Given the description of an element on the screen output the (x, y) to click on. 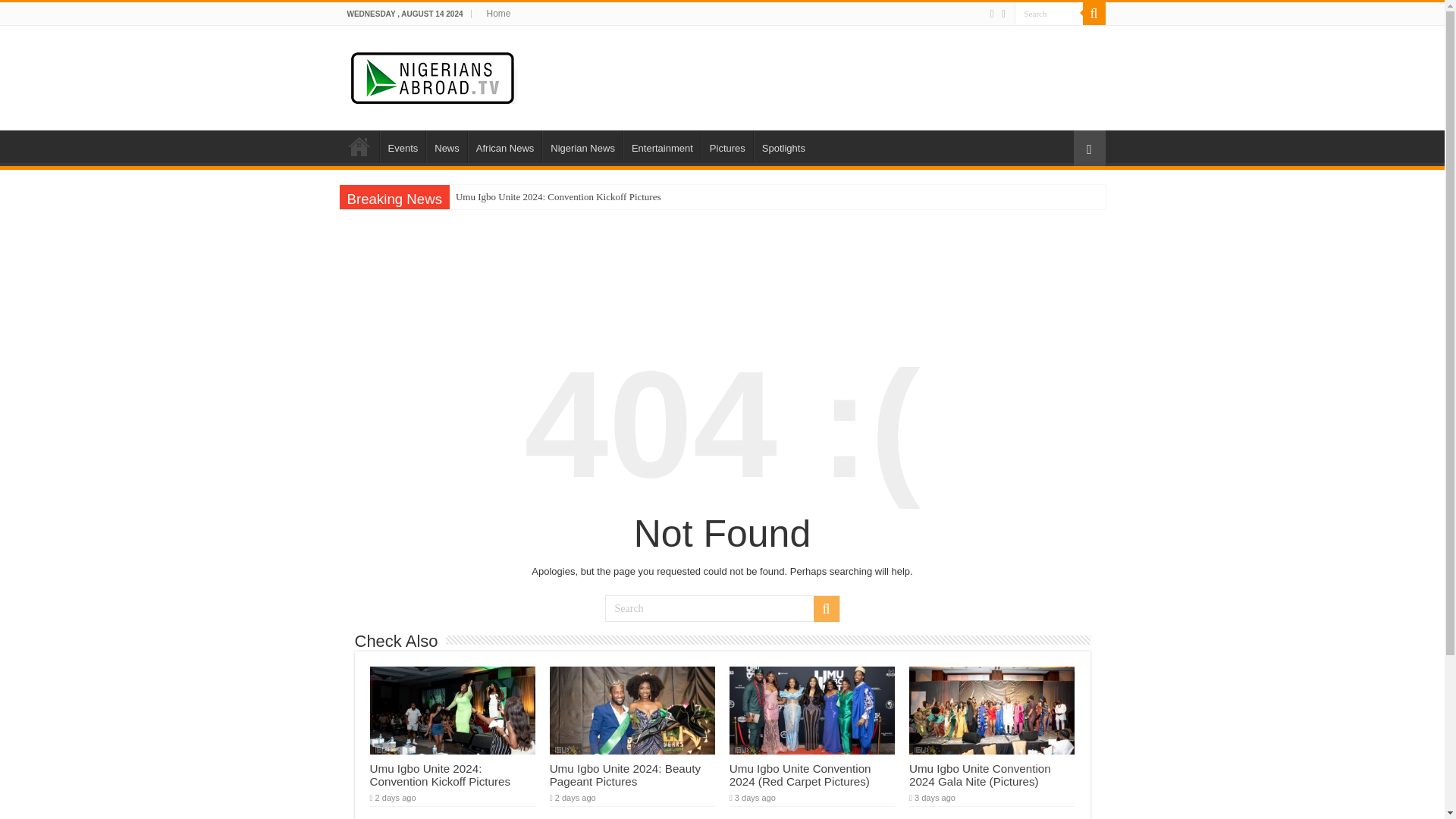
Events (401, 146)
Home (358, 146)
Search (1094, 13)
African News (504, 146)
Search (1048, 13)
Umu Igbo Unite 2024: Convention Kickoff Pictures (440, 774)
Search (825, 608)
Spotlights (783, 146)
Nigerian News (582, 146)
Advertisement (817, 74)
